Given the description of an element on the screen output the (x, y) to click on. 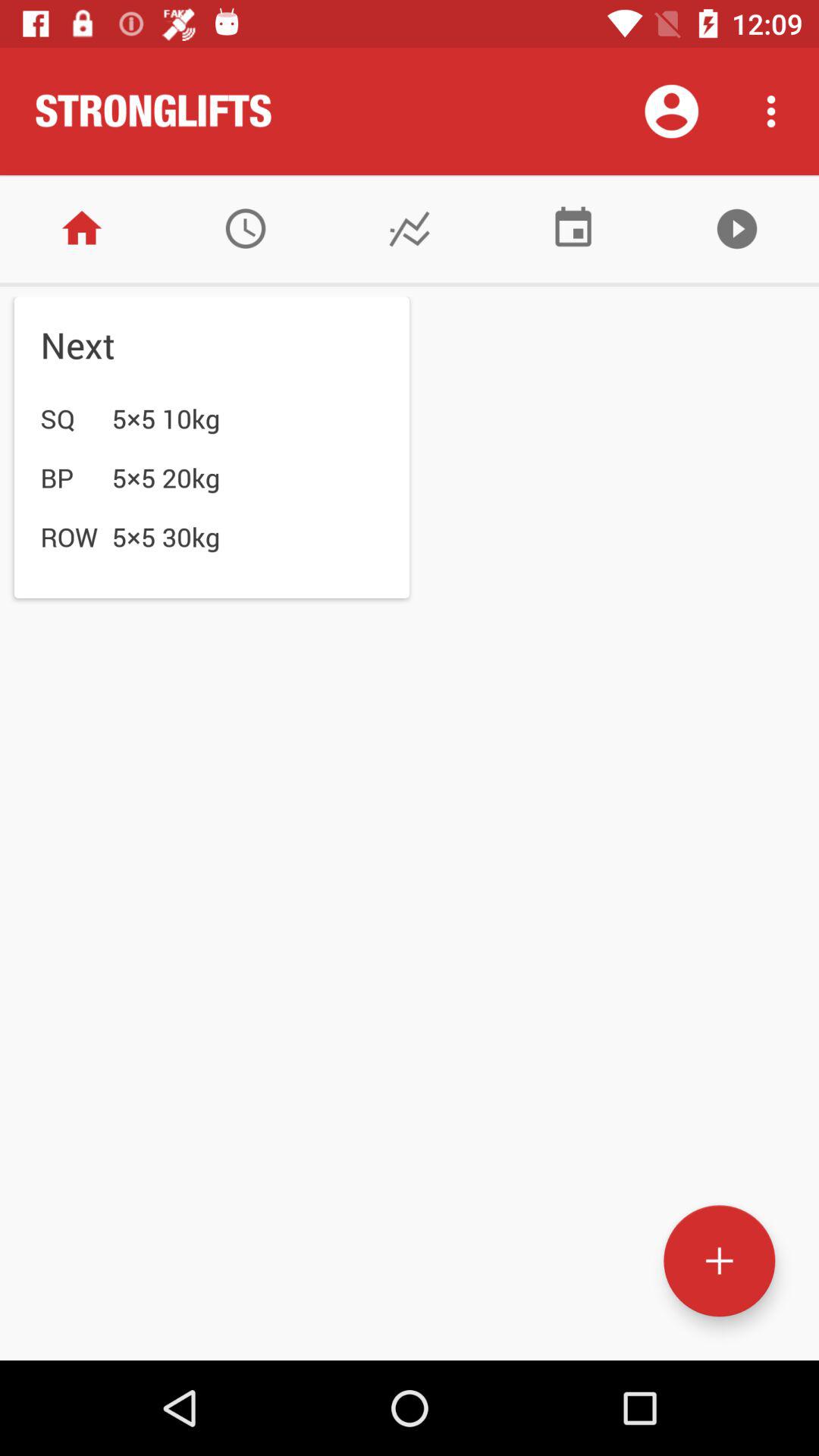
graph view (409, 228)
